Given the description of an element on the screen output the (x, y) to click on. 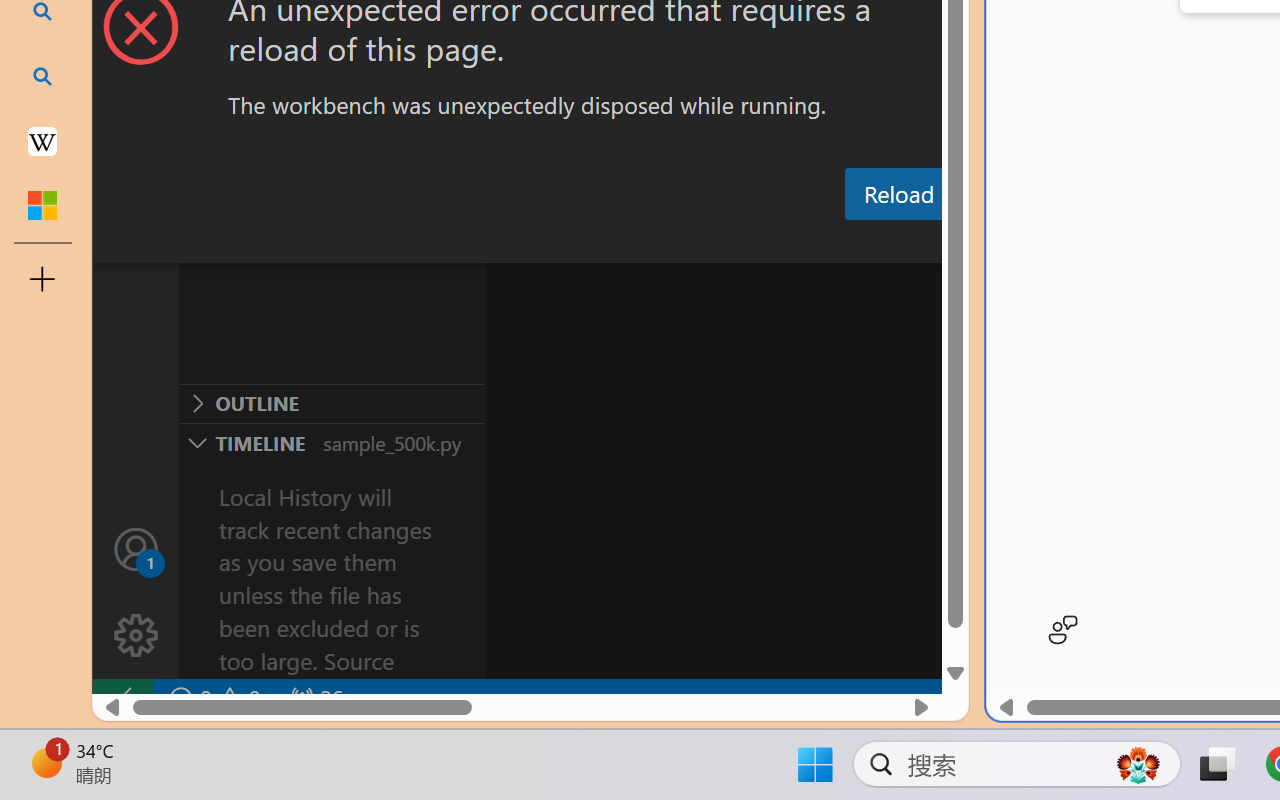
Debug Console (Ctrl+Shift+Y) (854, 243)
Output (Ctrl+Shift+U) (696, 243)
No Problems (212, 698)
Earth - Wikipedia (42, 140)
Manage (135, 591)
Timeline Section (331, 442)
remote (122, 698)
